Given the description of an element on the screen output the (x, y) to click on. 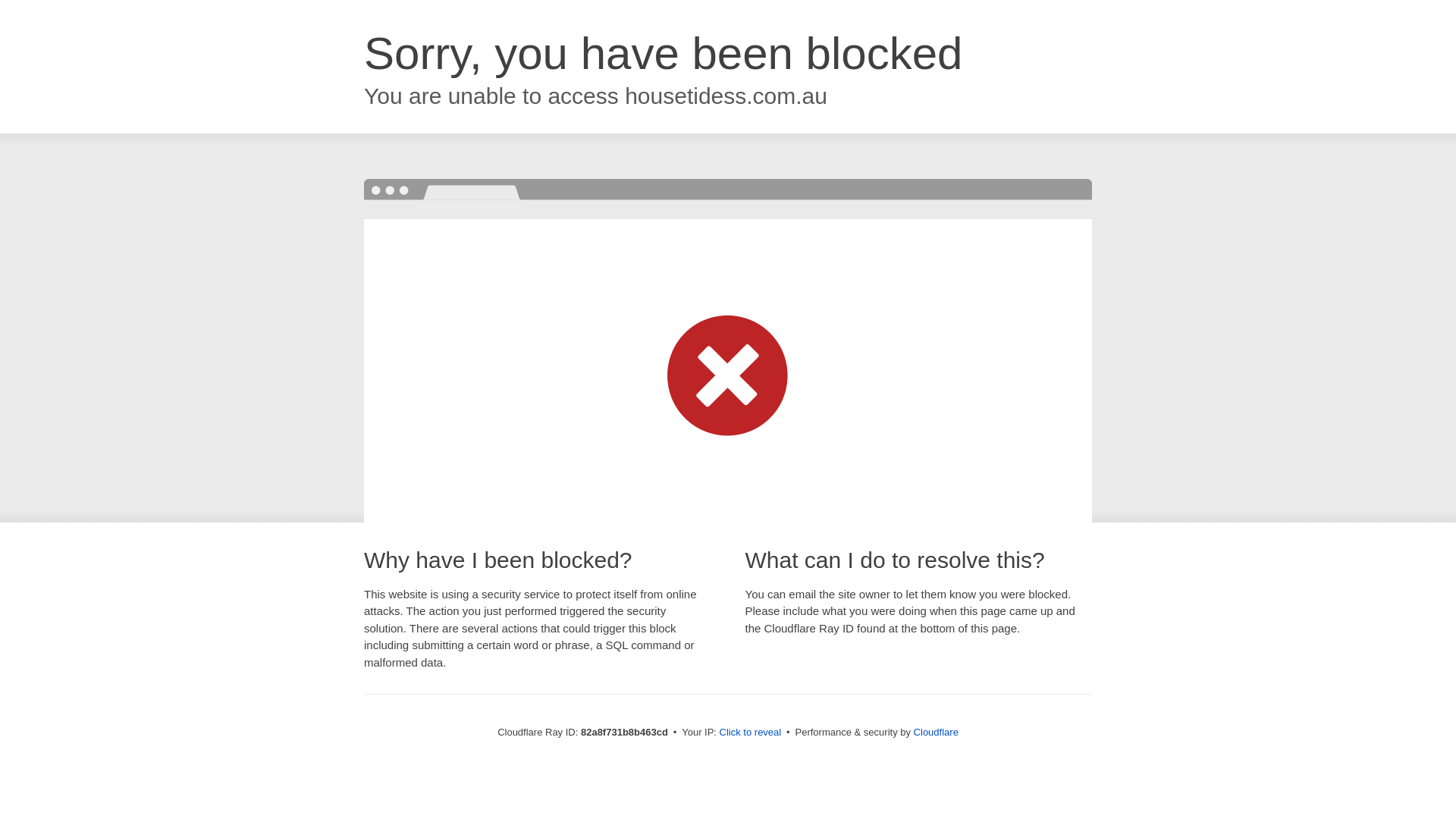
Click to reveal Element type: text (750, 732)
Cloudflare Element type: text (935, 731)
